Given the description of an element on the screen output the (x, y) to click on. 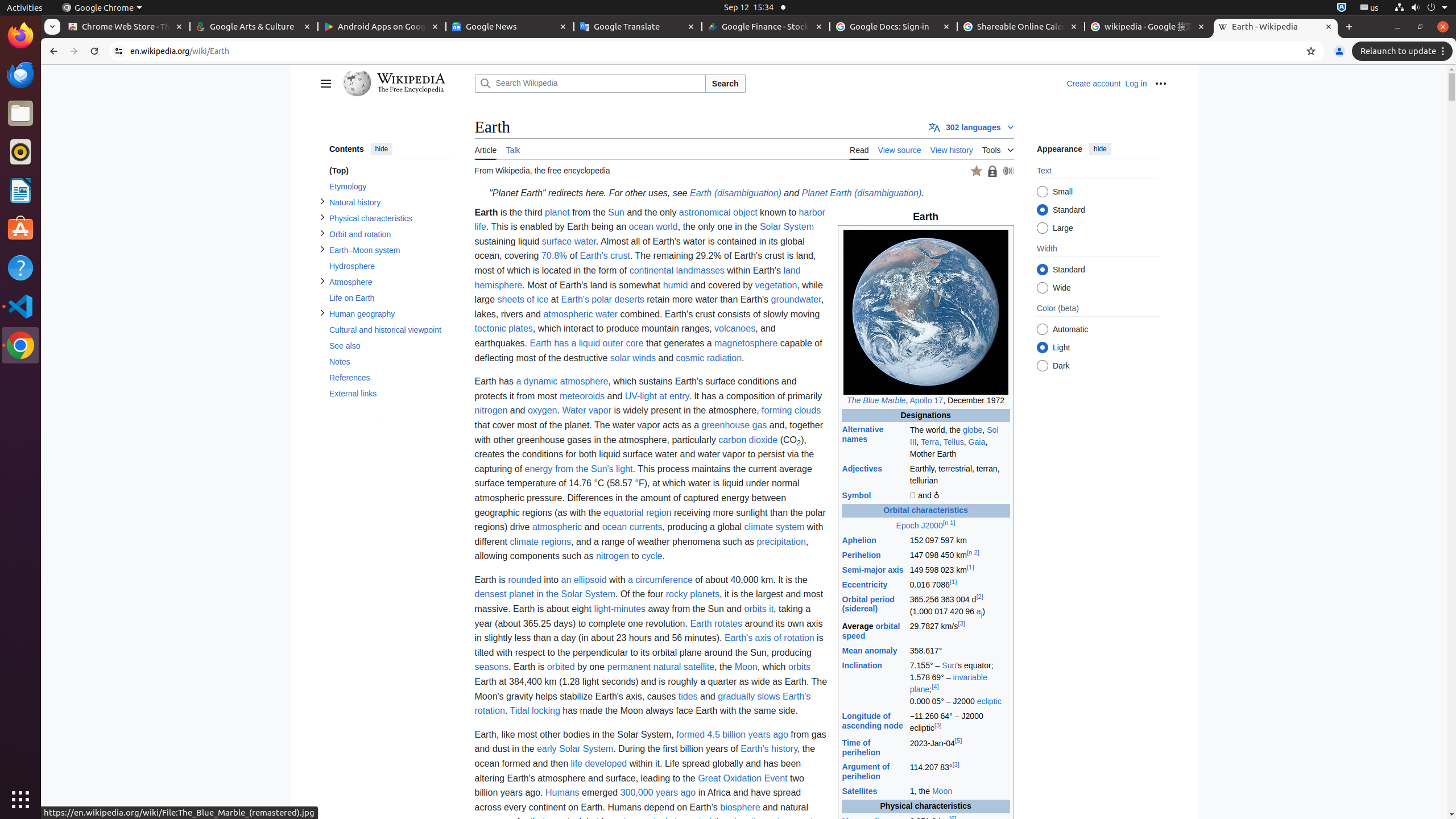
Log in Element type: link (1135, 83)
Planet Earth (disambiguation) Element type: link (861, 193)
invariable plane Element type: link (948, 683)
Bookmark this tab Element type: push-button (1310, 51)
cosmic radiation Element type: link (708, 357)
